Given the description of an element on the screen output the (x, y) to click on. 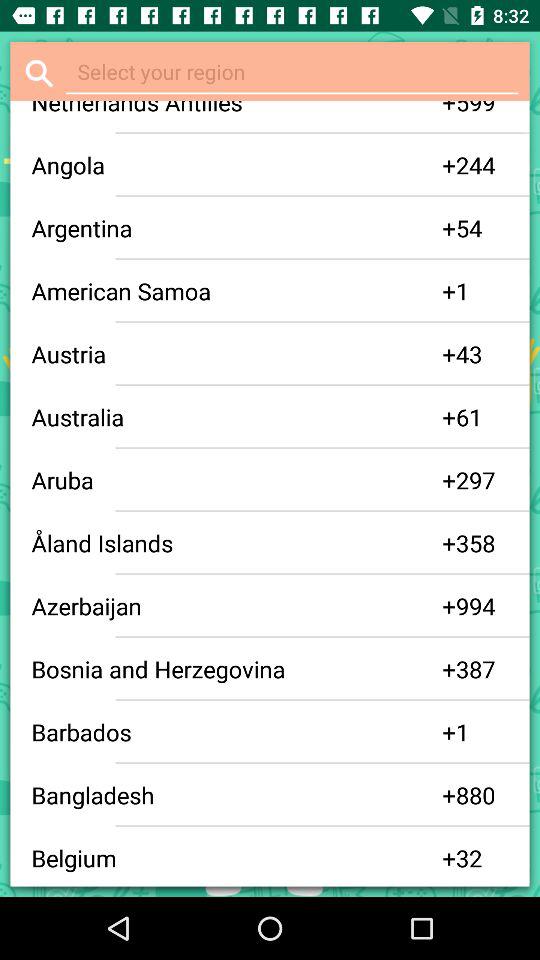
click app to the left of 54 item (449, 228)
